Given the description of an element on the screen output the (x, y) to click on. 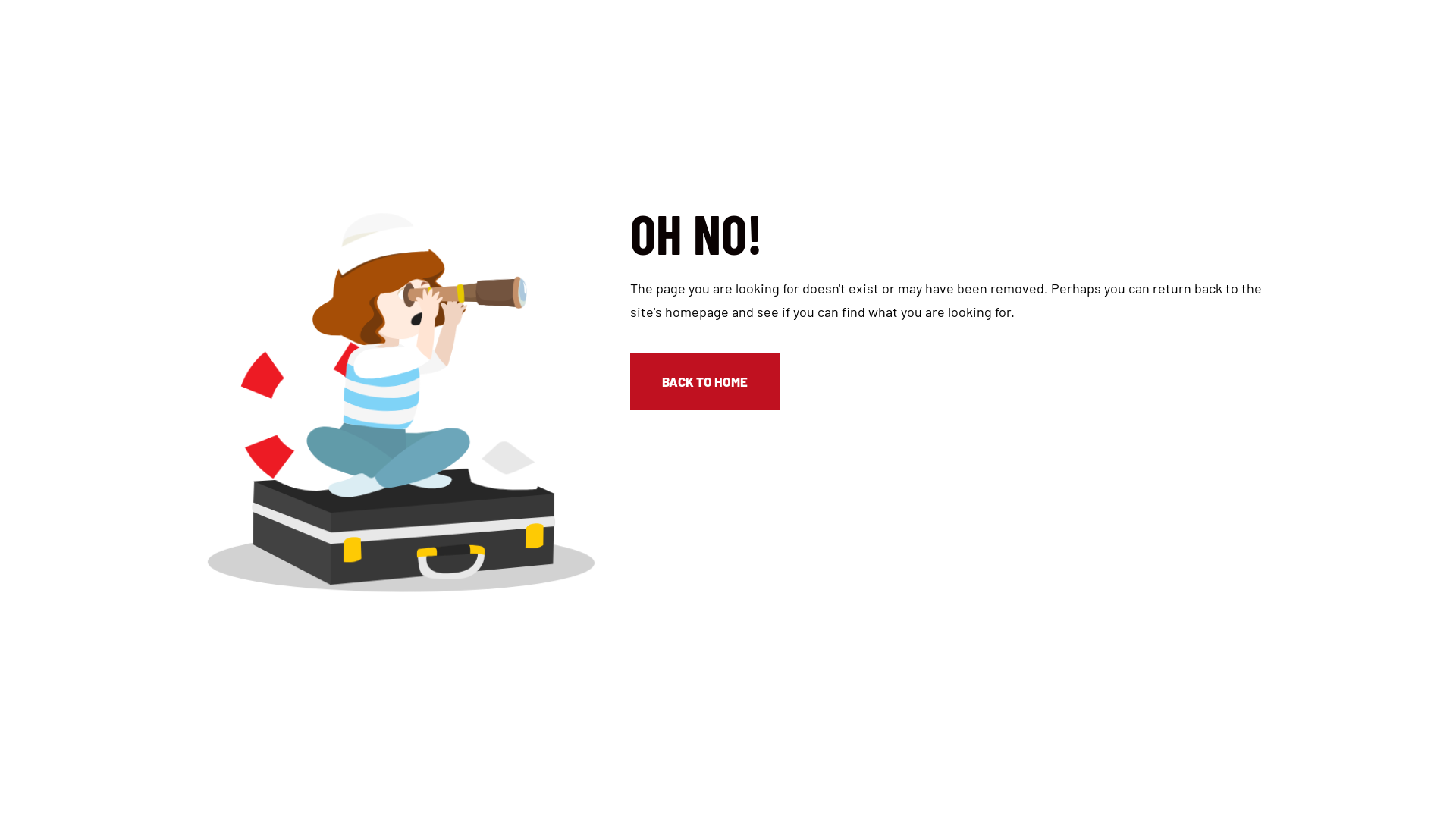
BACK TO HOME Element type: text (704, 381)
